Given the description of an element on the screen output the (x, y) to click on. 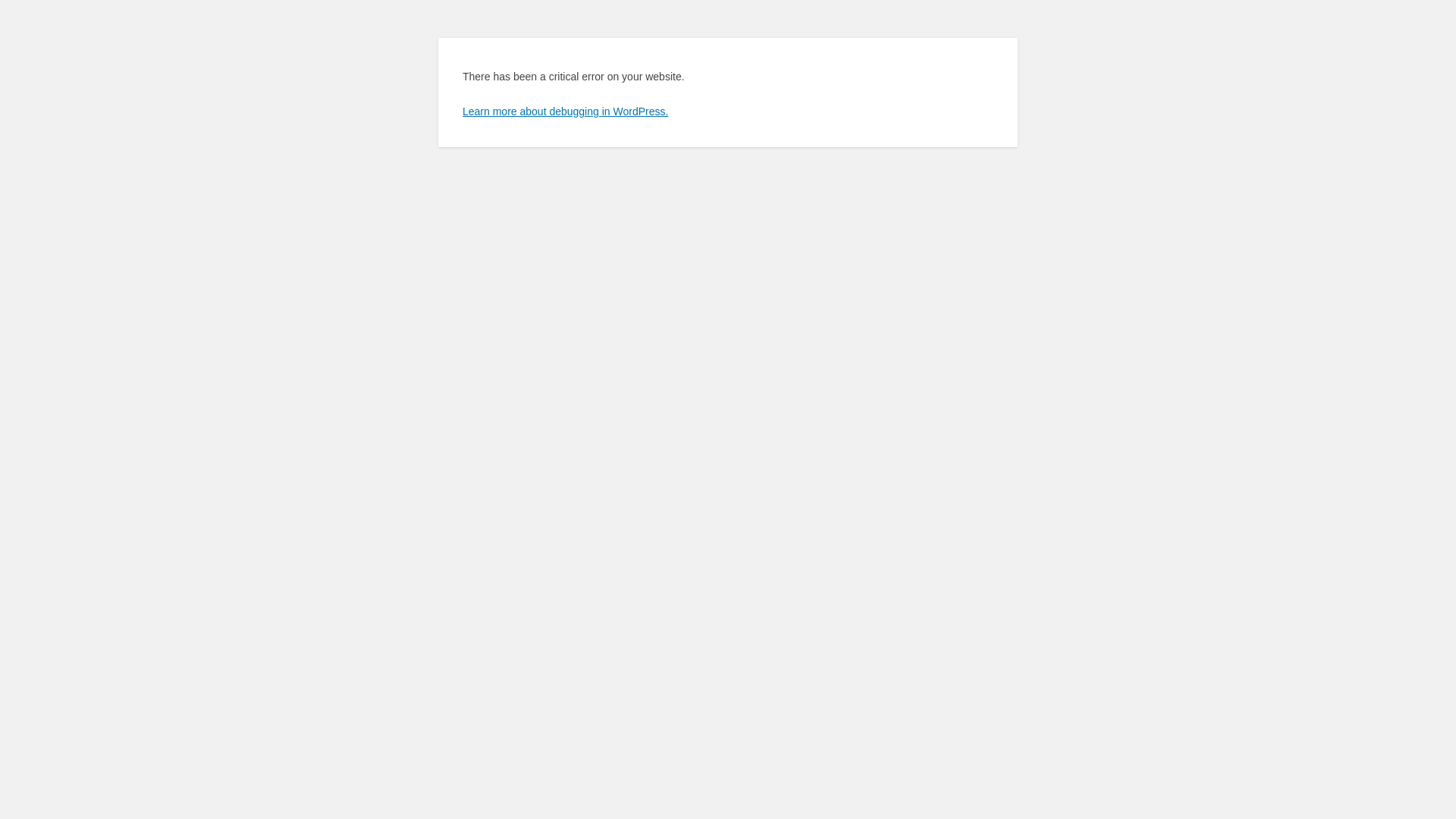
Learn more about debugging in WordPress. Element type: text (565, 111)
